Given the description of an element on the screen output the (x, y) to click on. 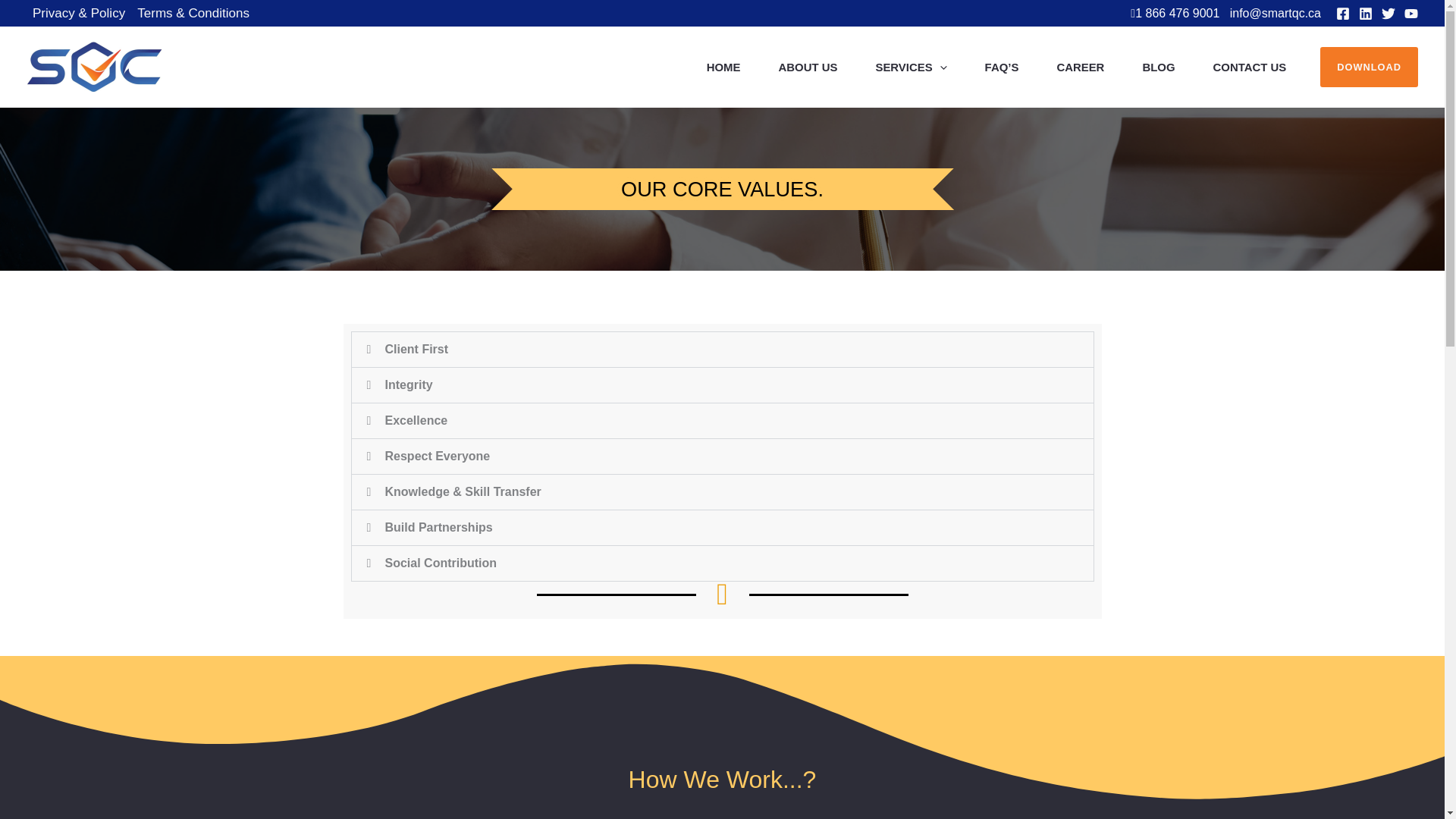
Client First (416, 349)
Build Partnerships (439, 526)
CONTACT US (1248, 66)
Respect Everyone (437, 455)
BLOG (1157, 66)
ABOUT US (808, 66)
Social Contribution (441, 562)
Integrity (408, 384)
1 866 476 9001 (1177, 12)
HOME (723, 66)
SERVICES (910, 66)
Excellence (416, 420)
CAREER (1079, 66)
DOWNLOAD (1369, 66)
